Given the description of an element on the screen output the (x, y) to click on. 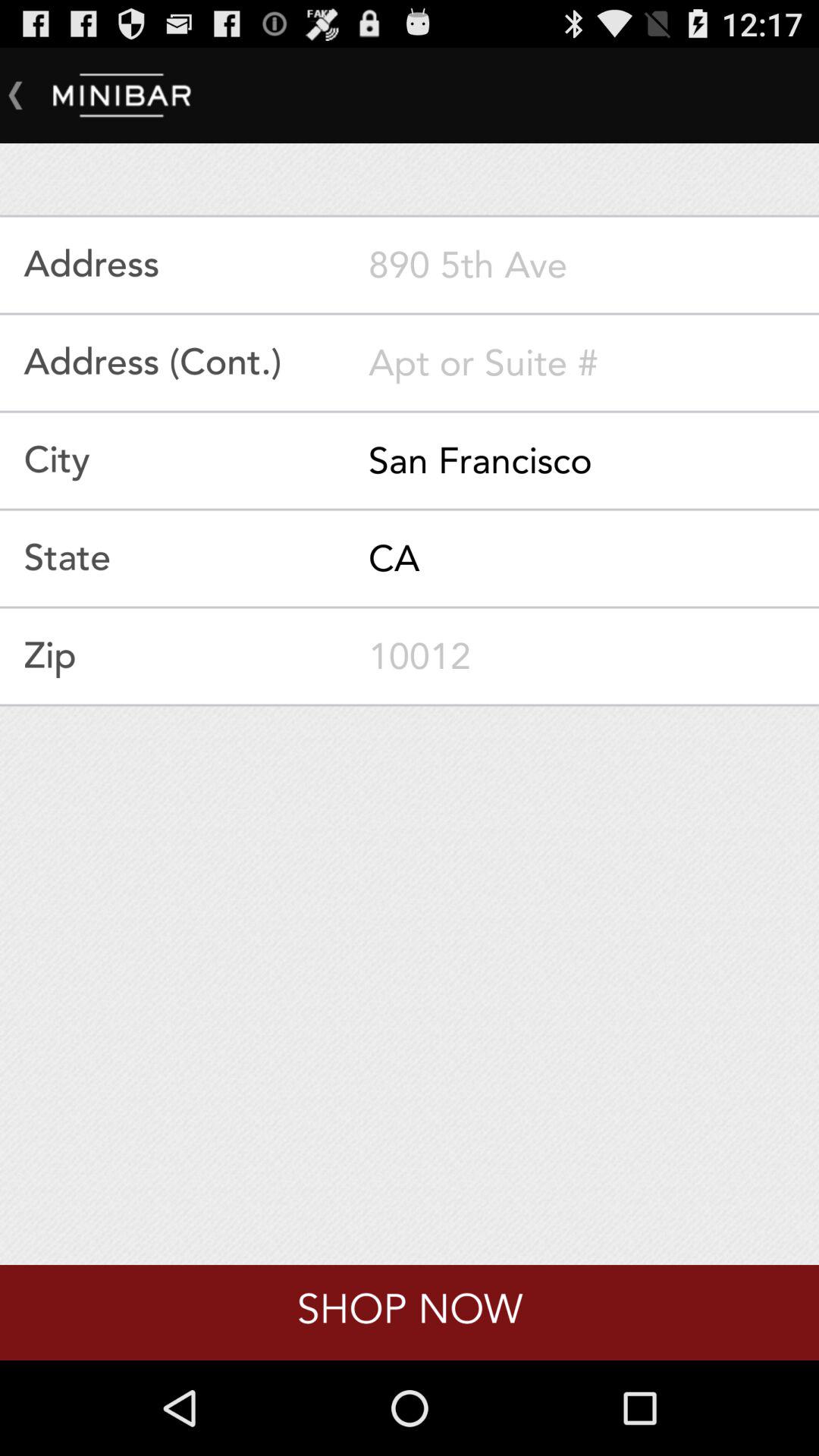
enter zip code (593, 656)
